Given the description of an element on the screen output the (x, y) to click on. 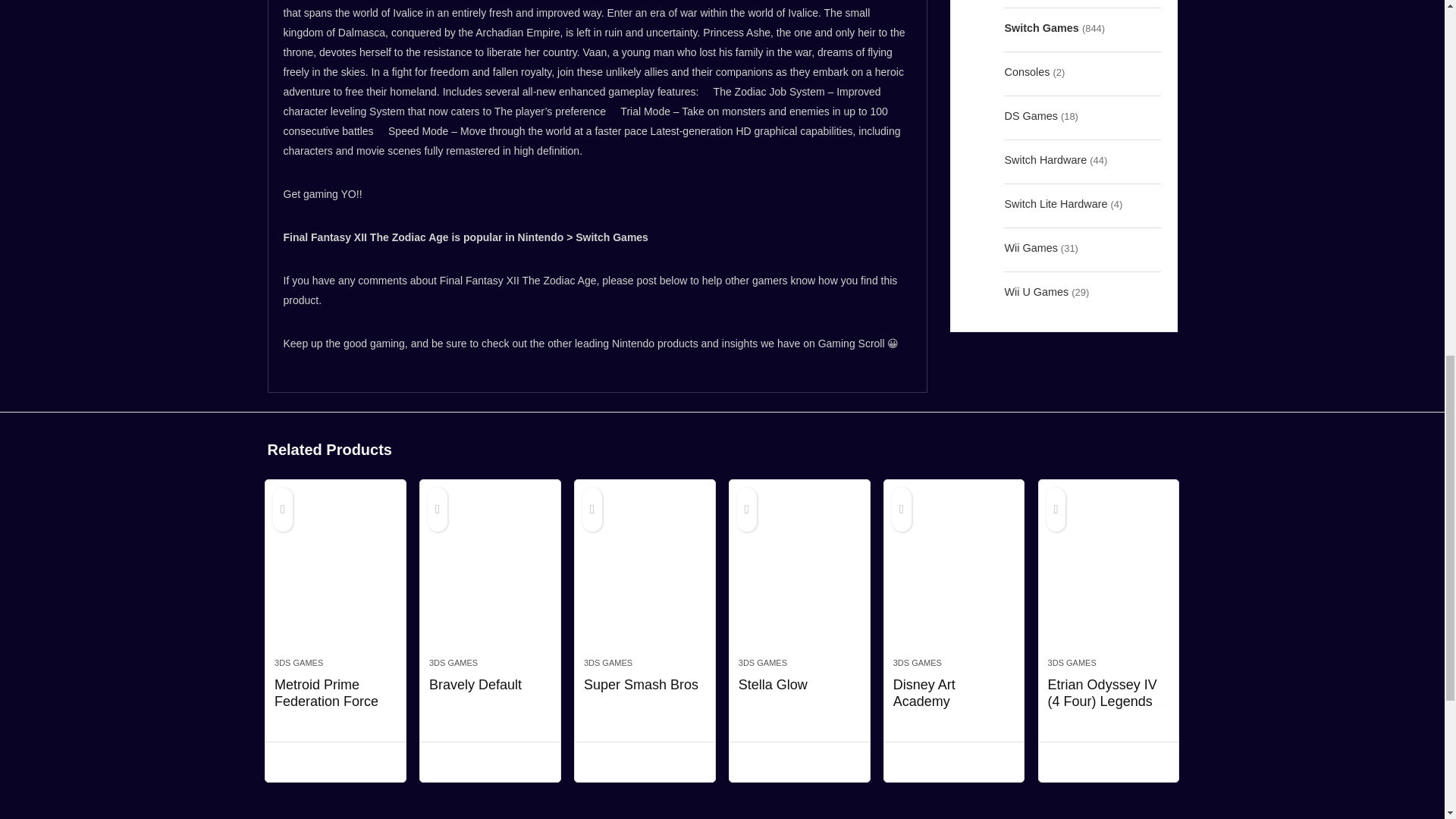
Wii Games (1030, 247)
3DS GAMES (607, 662)
Stella Glow (799, 575)
3DS GAMES (453, 662)
Switch Hardware (1045, 159)
Consoles (1026, 71)
3DS GAMES (299, 662)
Disney Art Academy (953, 575)
Wii U Games (1036, 291)
3DS Games (1033, 2)
